Given the description of an element on the screen output the (x, y) to click on. 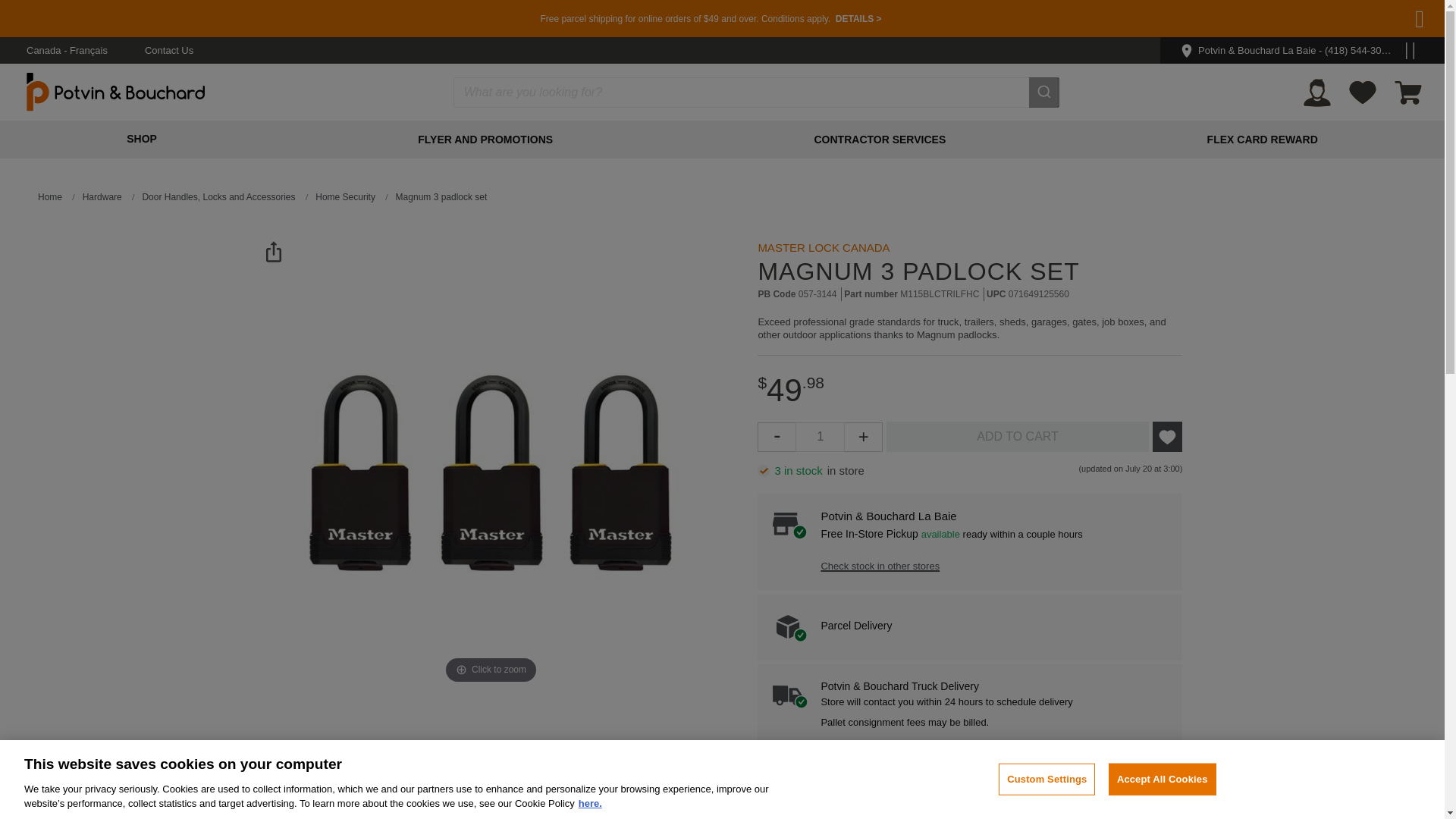
Store details (1209, 36)
1 (819, 437)
Go to Home Page (49, 197)
SHOP (140, 138)
Qty (819, 437)
MASTER LOCK CANADA (823, 246)
Sign In (1316, 91)
FIND A STORE (1382, 36)
Submit (1044, 91)
Contact Us (168, 49)
Add to Cart (1017, 436)
